Given the description of an element on the screen output the (x, y) to click on. 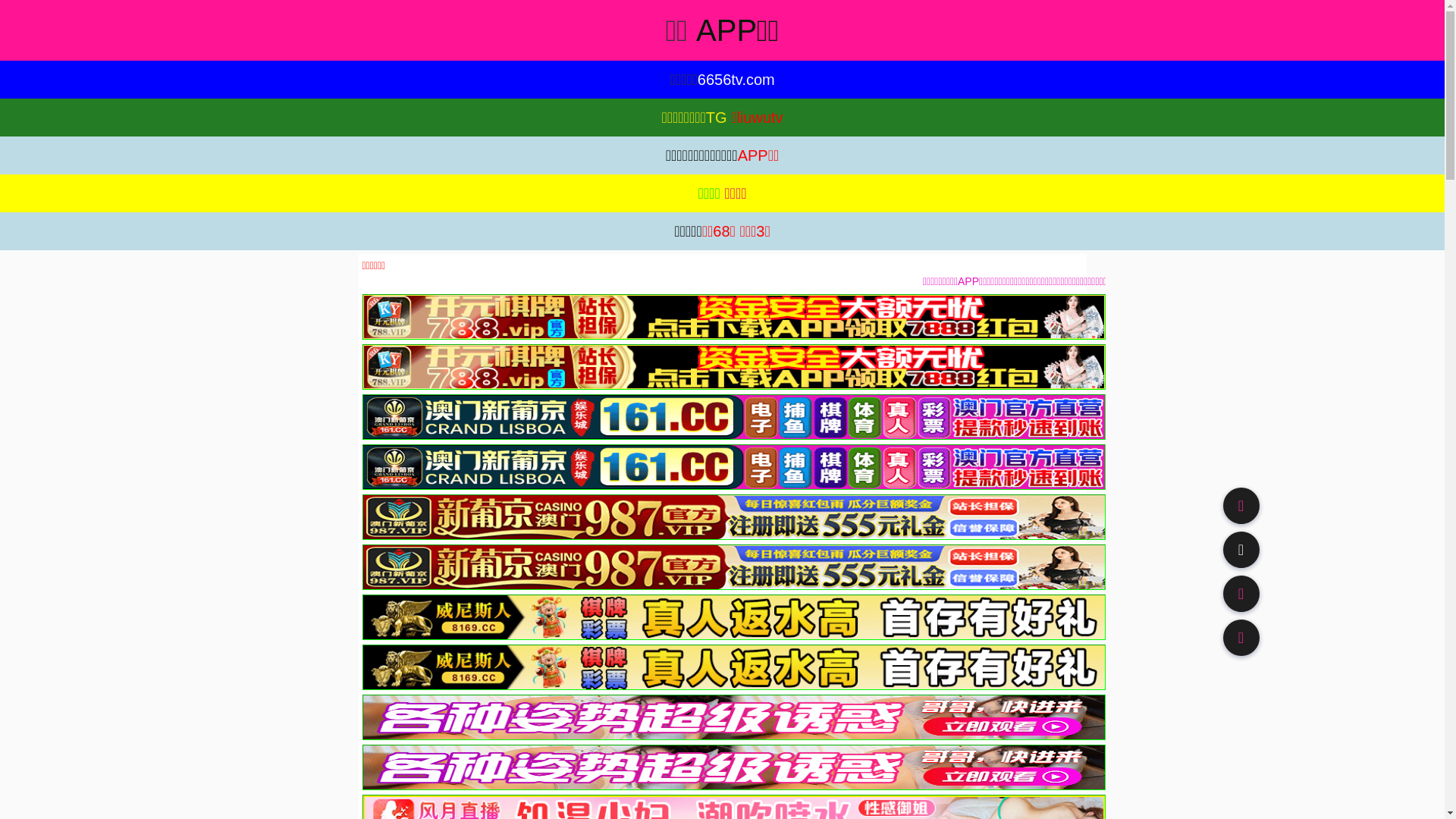
91TV Element type: hover (1240, 593)
